Given the description of an element on the screen output the (x, y) to click on. 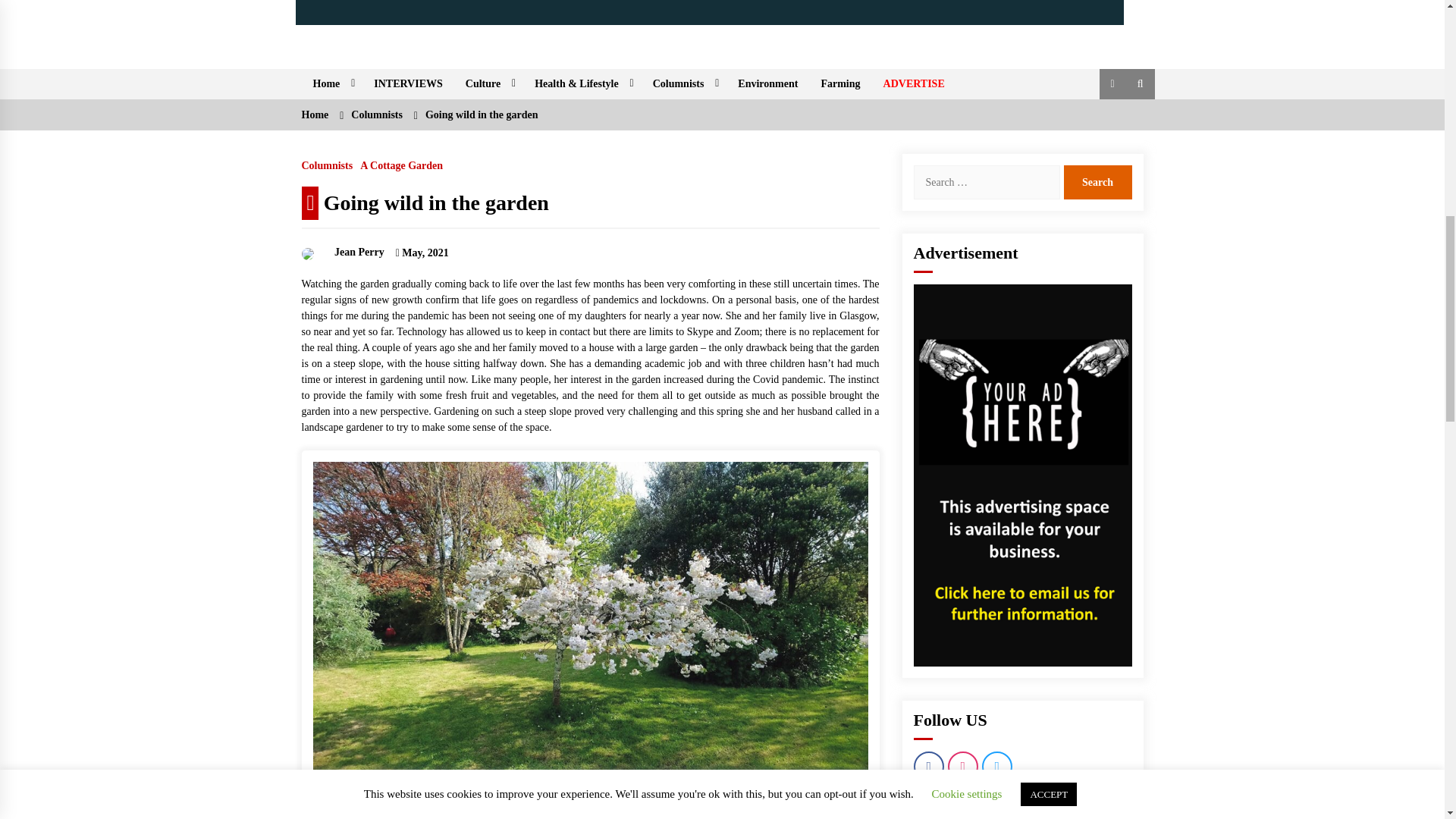
Culture (488, 83)
INTERVIEWS (408, 83)
July 2024 issue (709, 12)
Search (1096, 182)
Home (331, 83)
Columnists (684, 83)
Search (1096, 182)
